Given the description of an element on the screen output the (x, y) to click on. 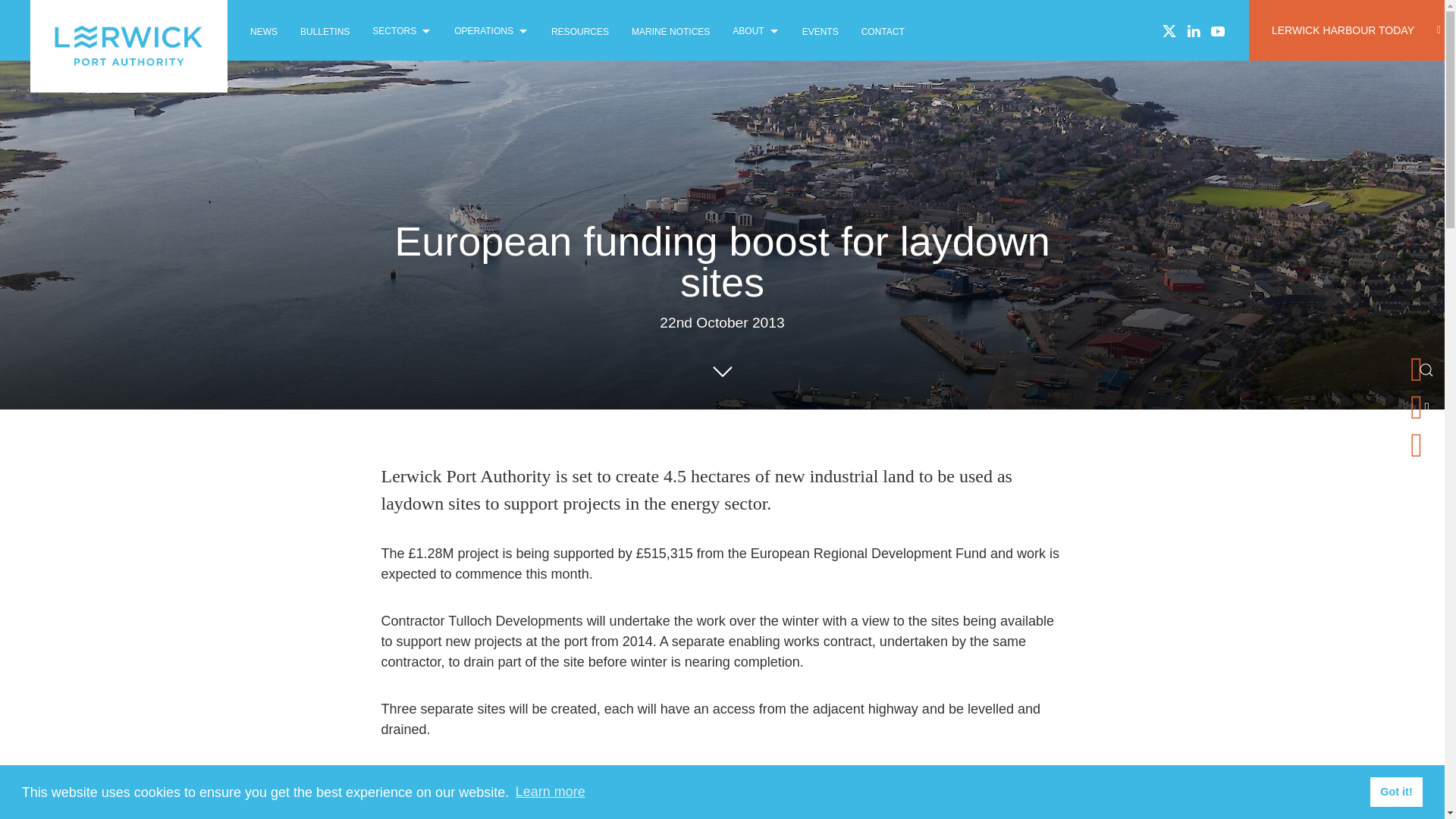
Got it! (1396, 791)
SECTORS (401, 30)
BULLETINS (324, 30)
Learn more (550, 791)
